Given the description of an element on the screen output the (x, y) to click on. 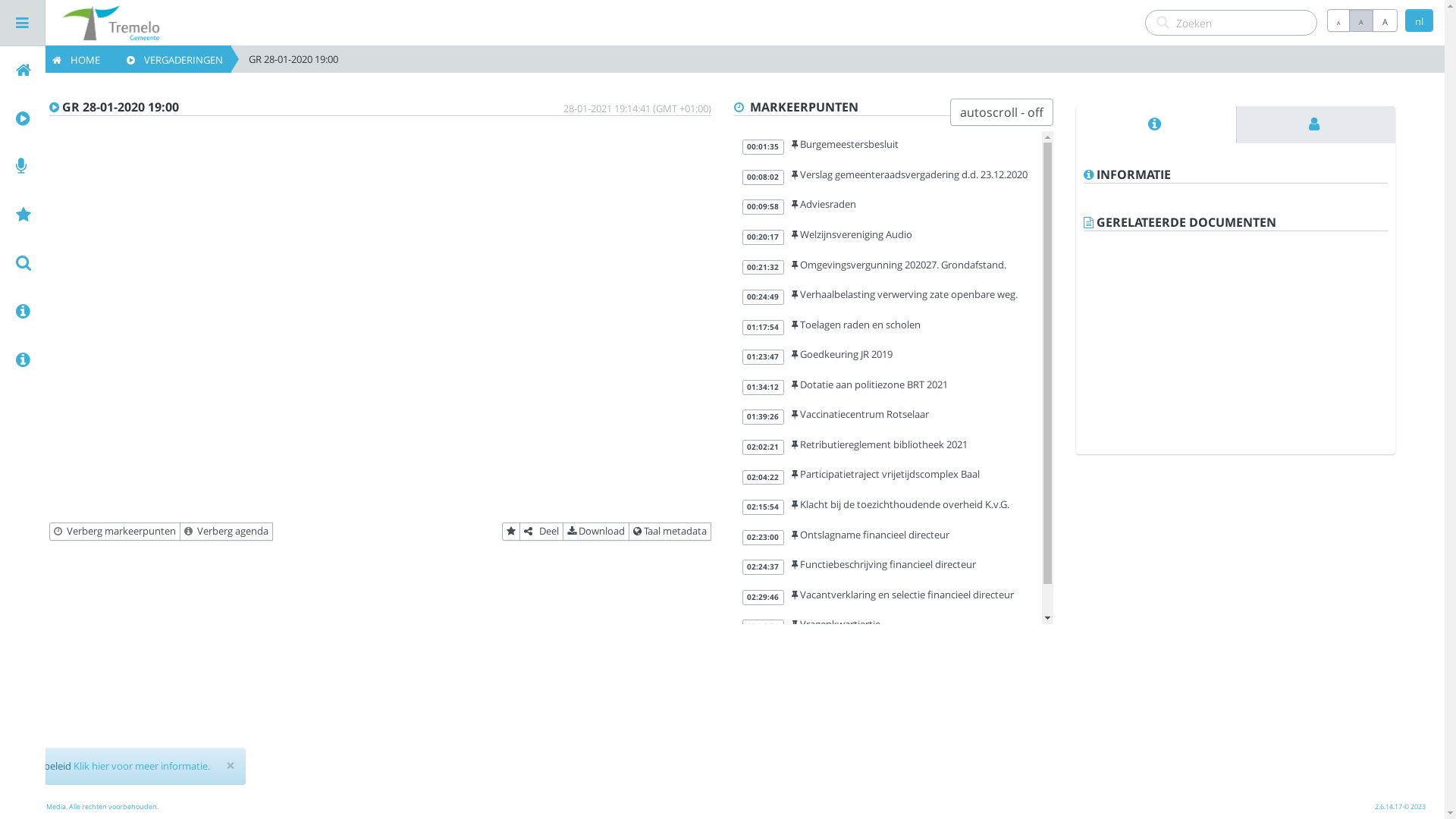
Kijklijst Element type: text (134, 215)
 Download Element type: text (595, 531)
Live vergaderingen Element type: text (134, 166)
    VERGADERINGEN Element type: text (168, 58)
01:23:47
 Goedkeuring JR 2019 Element type: text (887, 356)
A Element type: text (1338, 20)
02:15:54
 Klacht bij de toezichthoudende overheid K.v.G. Element type: text (887, 506)
Home Element type: text (134, 70)
Sprekers Element type: hover (1315, 124)
01:39:26
 Vaccinatiecentrum Rotselaar Element type: text (887, 416)
Favorieten toevoegen/verwijderen Element type: hover (511, 531)
02:02:21
 Retributiereglement bibliotheek 2021 Element type: text (887, 446)
Vergaderingen Element type: text (134, 118)
00:01:35
 Burgemeestersbesluit Element type: text (887, 146)
nl Element type: text (1419, 20)
02:24:37
 Functiebeschrijving financieel directeur Element type: text (887, 566)
02:04:22
 Participatietraject vrijetijdscomplex Baal Element type: text (887, 476)
Informatie Element type: hover (1156, 124)
A Element type: text (1384, 20)
  Verberg markeerpunten Element type: text (114, 531)
02:29:46
 Vacantverklaring en selectie financieel directeur Element type: text (887, 596)
01:34:12
 Dotatie aan politiezone BRT 2021 Element type: text (887, 386)
01:17:54
 Toelagen raden en scholen Element type: text (887, 326)
Over Element type: text (134, 359)
  Element type: text (1156, 124)
A Element type: text (1361, 20)
  Element type: text (1315, 124)
00:20:17
 Welzijnsvereniging Audio Element type: text (887, 236)
Zoeken Element type: text (134, 262)
  Verberg agenda Element type: text (226, 531)
  Deel Element type: text (540, 531)
00:24:49
 Verhaalbelasting verwerving zate openbare weg. Element type: text (887, 296)
Klik hier voor meer informatie. Element type: text (141, 765)
00:09:58
 Adviesraden Element type: text (887, 206)
00:08:02
 Verslag gemeenteraadsvergadering d.d. 23.12.2020 Element type: text (887, 176)
00:21:32
 Omgevingsvergunning 202027. Grondafstand. Element type: text (887, 266)
Privacybeleid Element type: text (134, 311)
 Taal metadata Element type: text (668, 531)
02:36:54
 Vragenkwartiertje Element type: text (887, 626)
02:23:00
 Ontslagname financieel directeur Element type: text (887, 536)
autoscroll - off Element type: text (1001, 111)
